Given the description of an element on the screen output the (x, y) to click on. 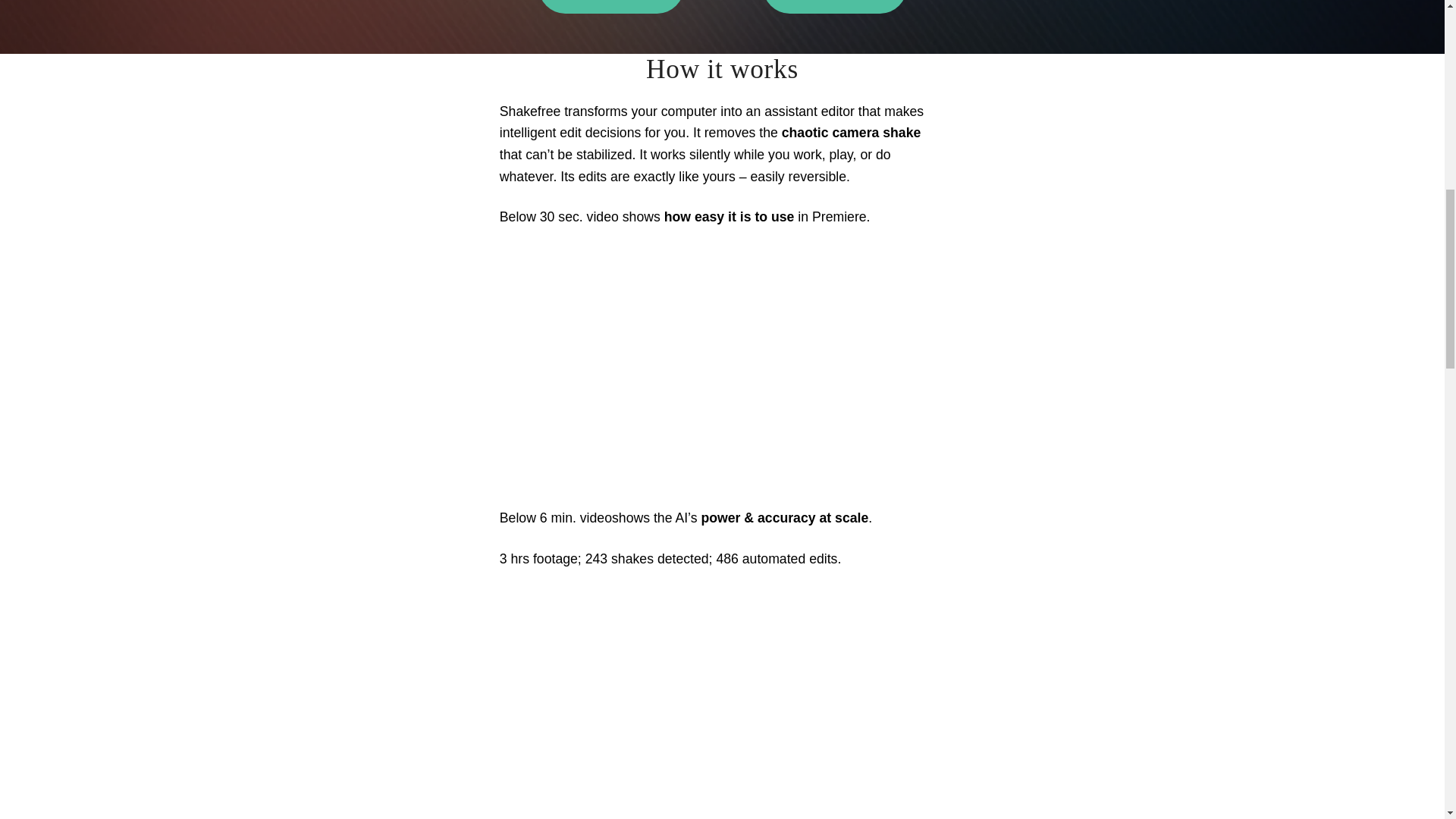
BUY NOW (834, 6)
TRY FREE (611, 6)
How Shakefree AI Edits - in 30 seconds (721, 372)
